Given the description of an element on the screen output the (x, y) to click on. 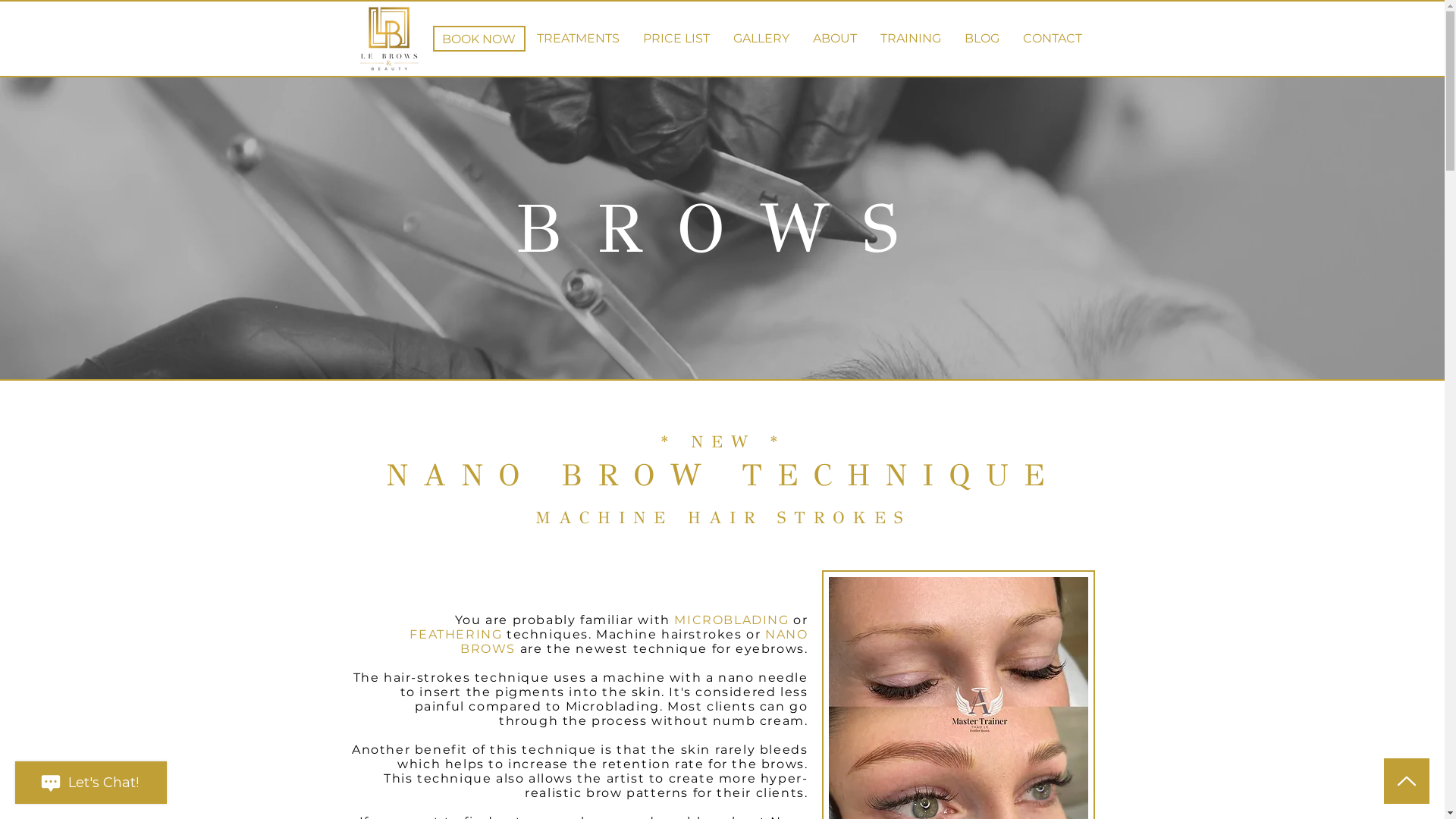
ABOUT Element type: text (834, 38)
CONTACT Element type: text (1052, 38)
BOOK NOW Element type: text (478, 38)
BLOG Element type: text (981, 38)
TRAINING Element type: text (911, 38)
PRICE LIST Element type: text (675, 38)
GALLERY Element type: text (761, 38)
